Given the description of an element on the screen output the (x, y) to click on. 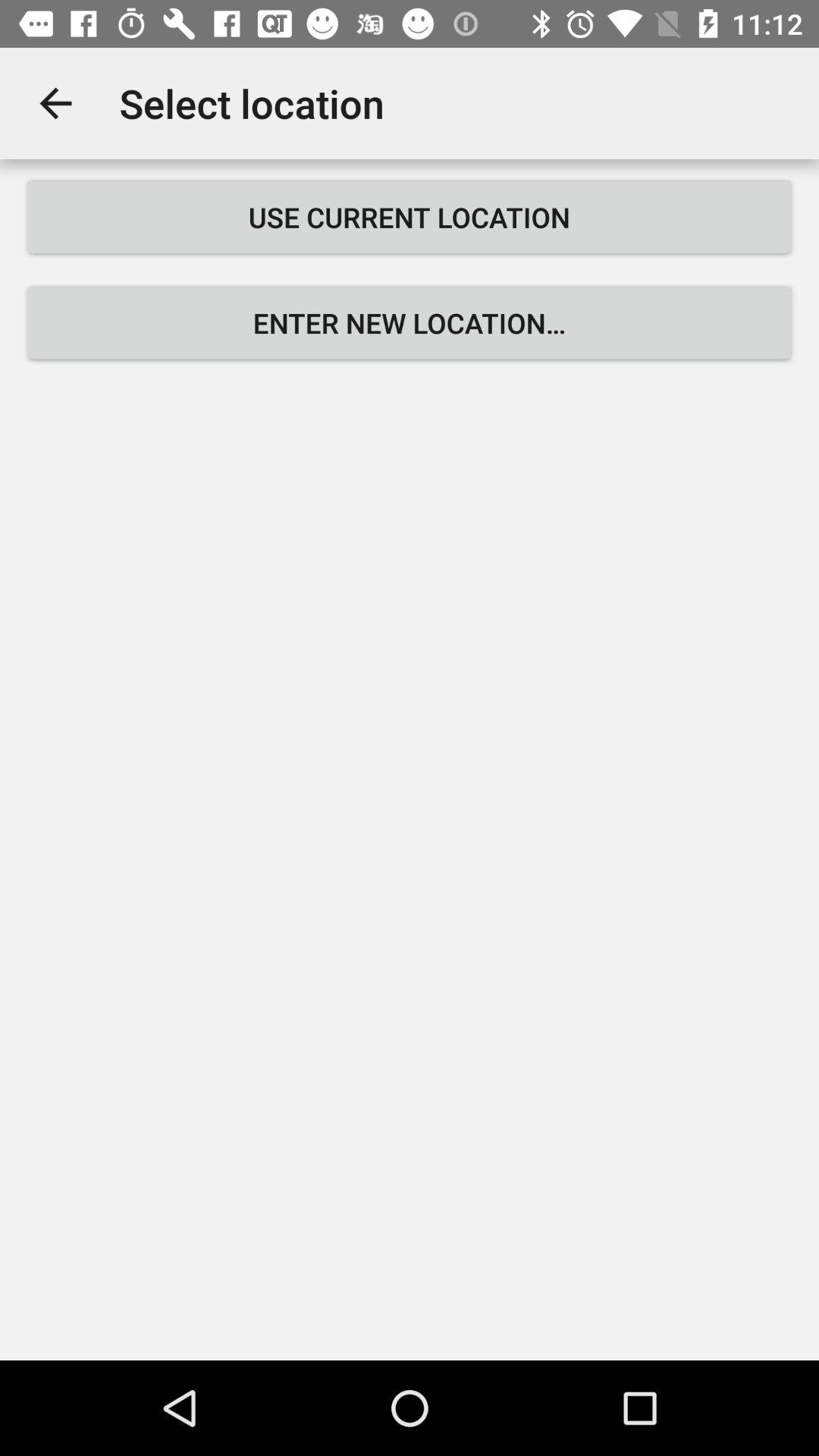
open app next to the select location item (55, 103)
